Given the description of an element on the screen output the (x, y) to click on. 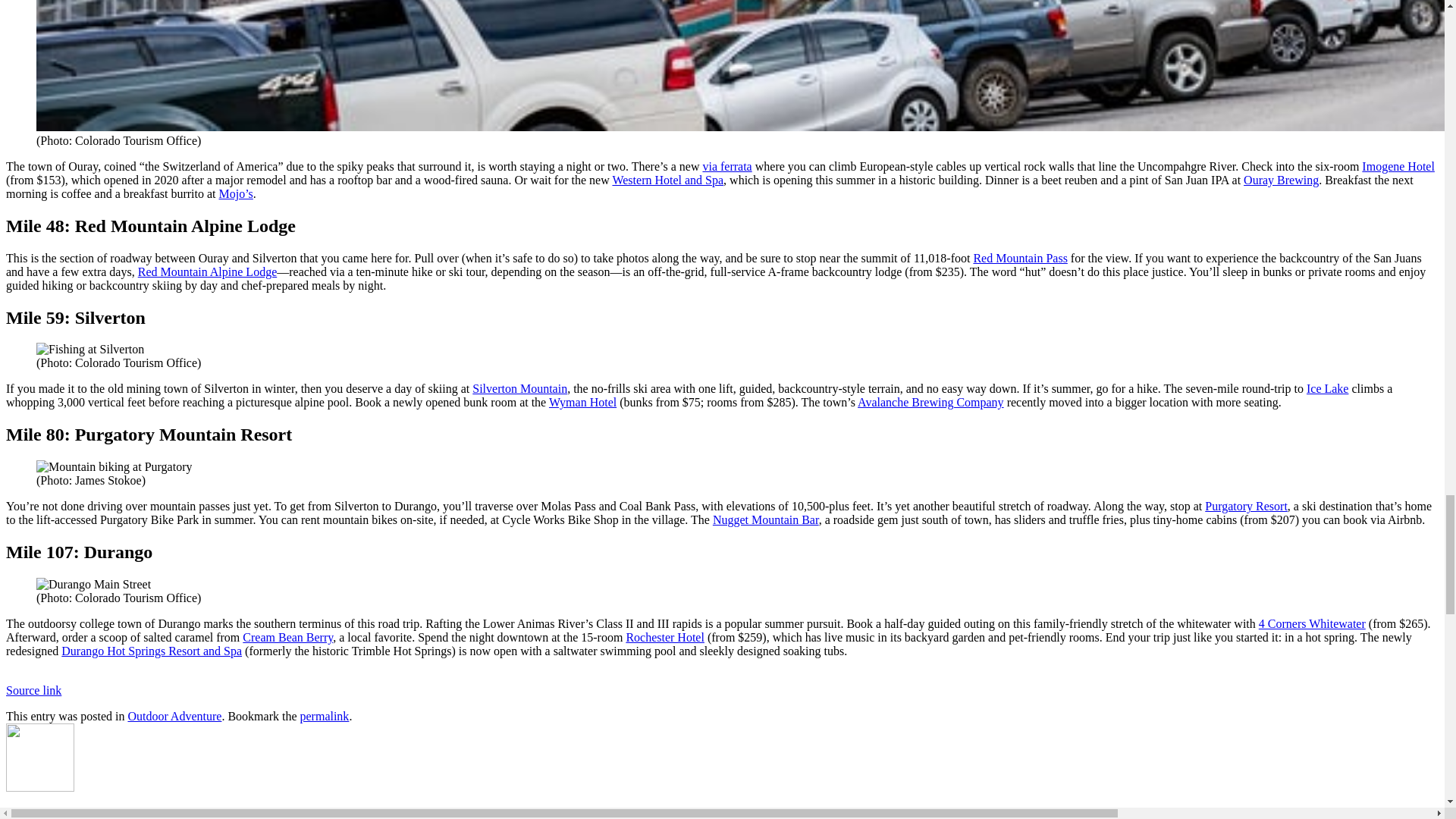
Durango Hot Springs Resort and Spa (151, 650)
Wyman Hotel (581, 401)
Ice Lake (1327, 388)
Purgatory Resort (1246, 505)
via ferrata (726, 165)
Avalanche Brewing Company (930, 401)
Ouray Brewing (1281, 179)
Cream Bean Berry (288, 636)
Source link (33, 689)
Rochester Hotel (665, 636)
Nugget Mountain Bar (765, 519)
Western Hotel and Spa (667, 179)
Imogene Hotel (1397, 165)
4 Corners Whitewater (1312, 623)
Red Mountain Alpine Lodge (208, 271)
